Given the description of an element on the screen output the (x, y) to click on. 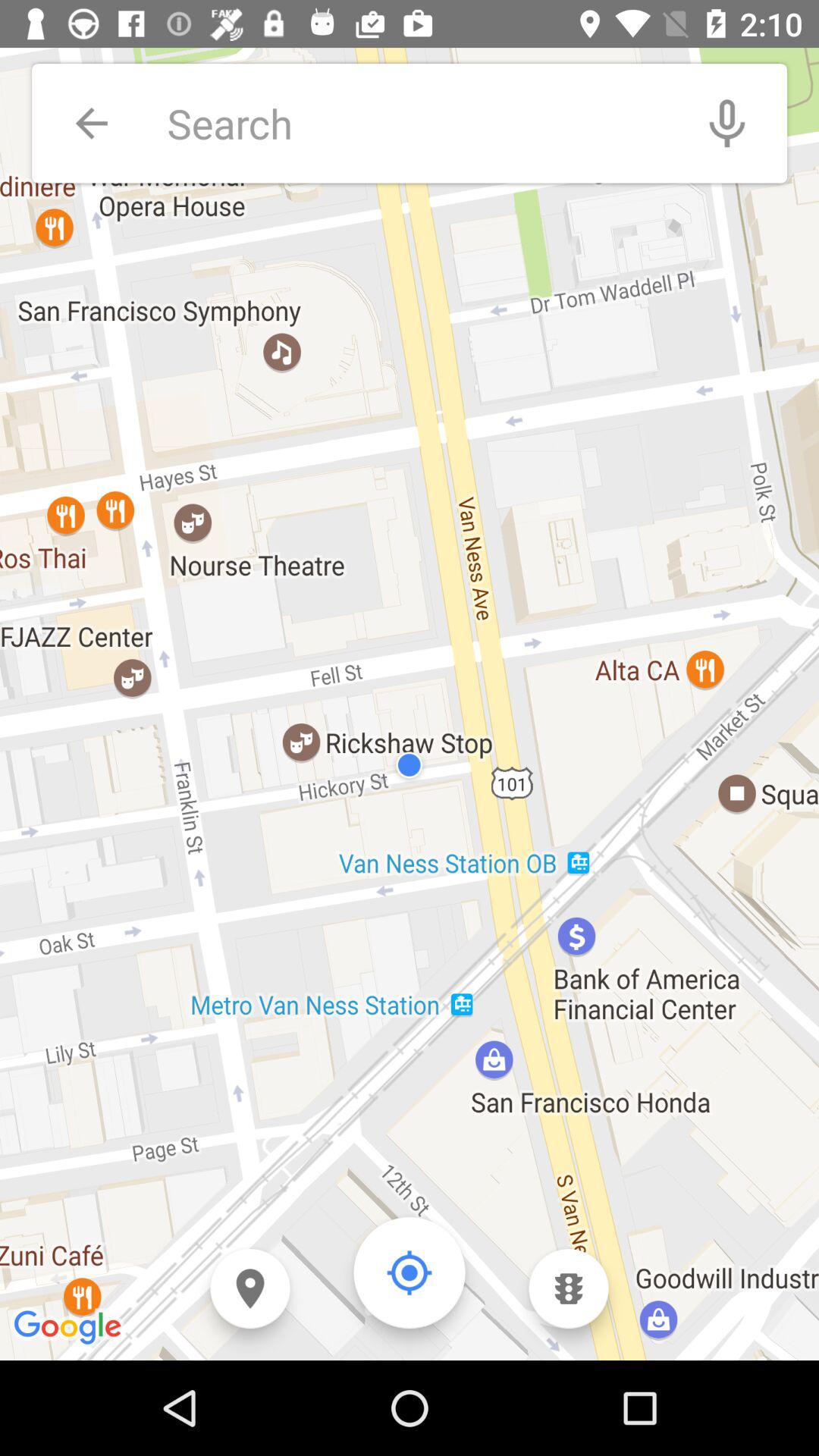
record the address (727, 123)
